Given the description of an element on the screen output the (x, y) to click on. 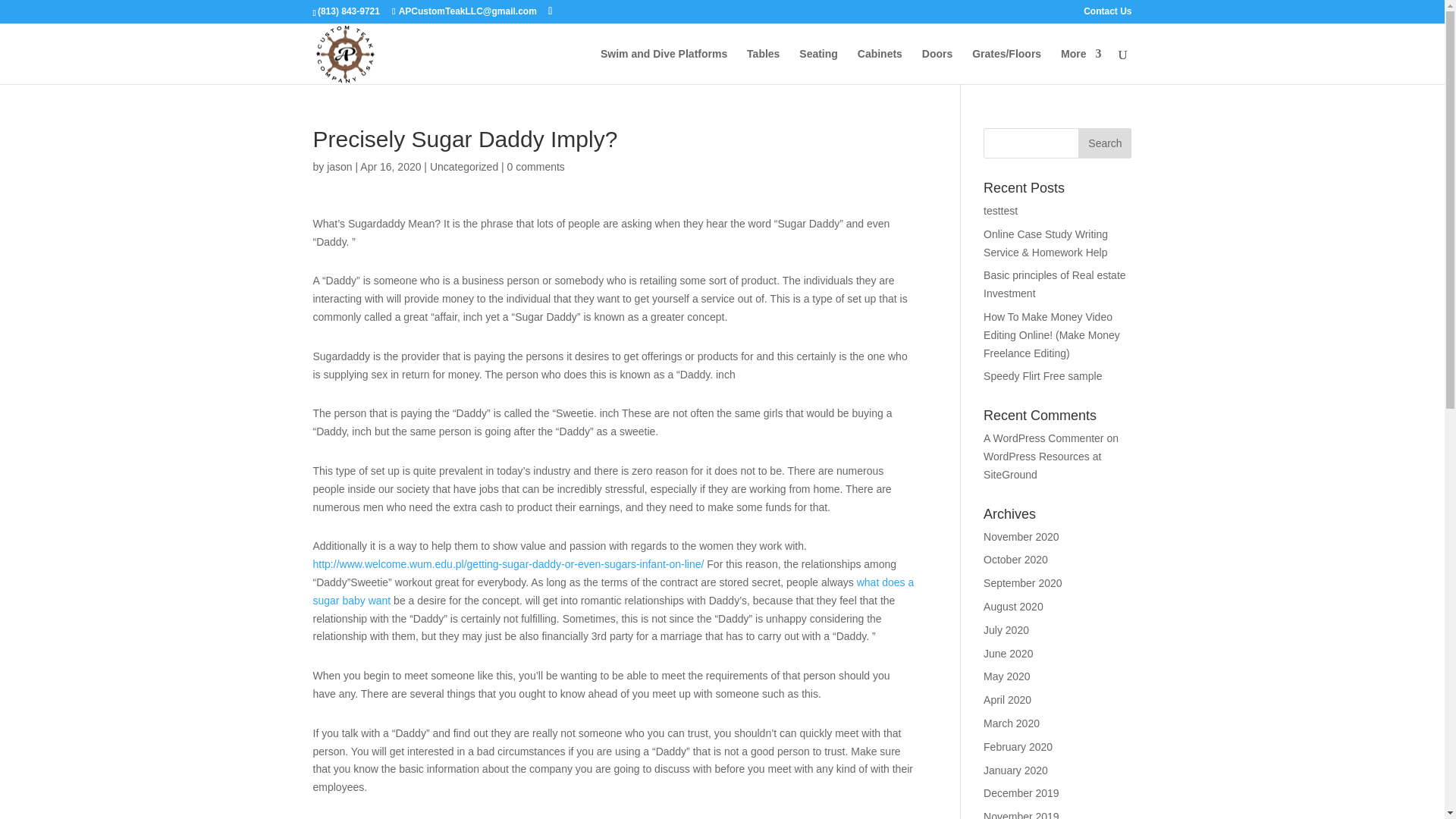
Swim and Dive Platforms (662, 66)
0 comments (535, 166)
jason (339, 166)
Tables (762, 66)
Cabinets (879, 66)
Uncategorized (463, 166)
Posts by jason (339, 166)
Seating (818, 66)
Search (1104, 142)
what does a sugar baby want (613, 591)
Contact Us (1107, 14)
Search (1104, 142)
More (1080, 66)
